Given the description of an element on the screen output the (x, y) to click on. 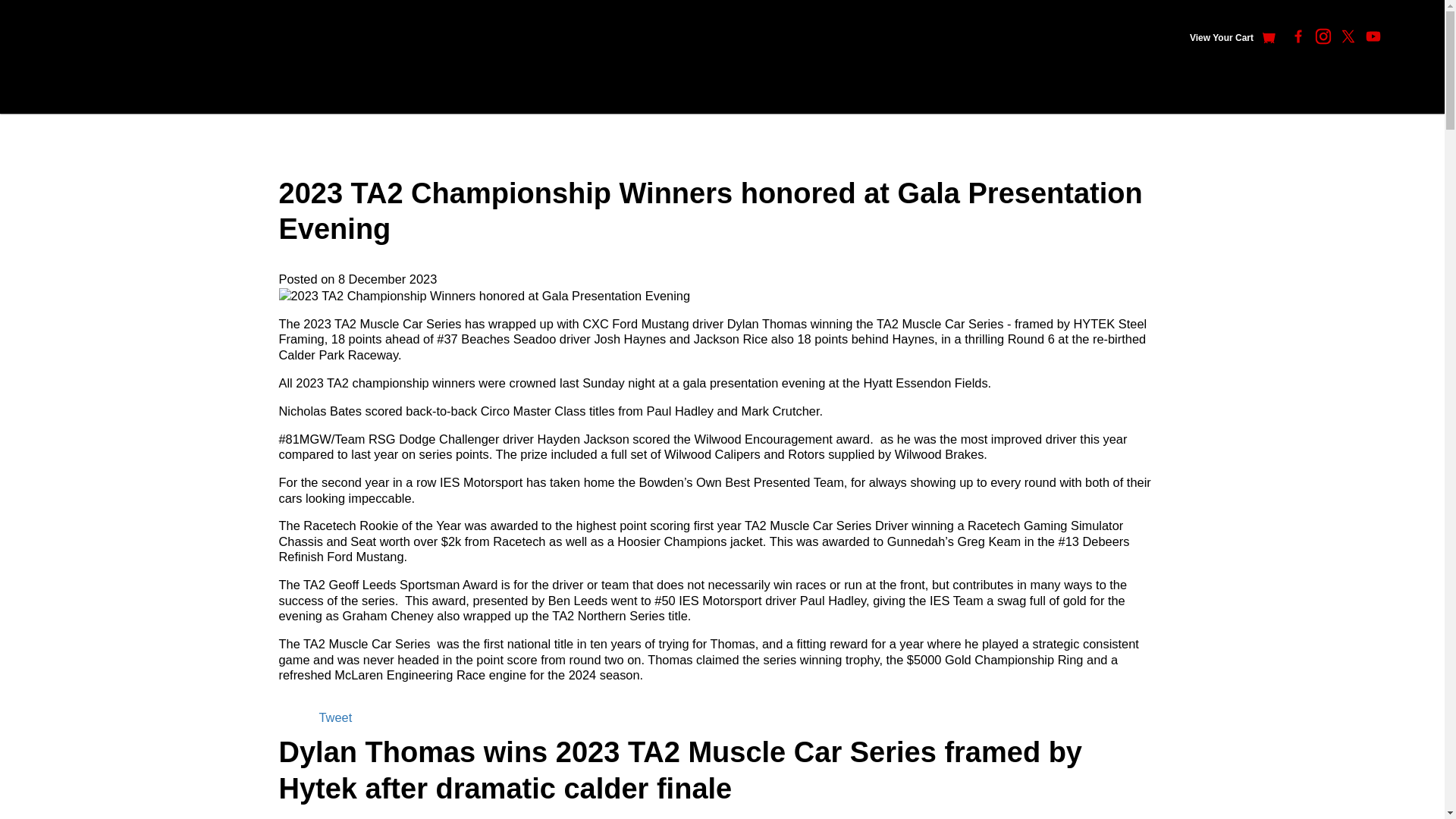
Search (1410, 37)
View Your Cart (1232, 37)
Search (1410, 37)
Subscribe via RSS (297, 718)
TA2 Racing Pty Ltd (82, 56)
Share it on Twitter (335, 716)
